Given the description of an element on the screen output the (x, y) to click on. 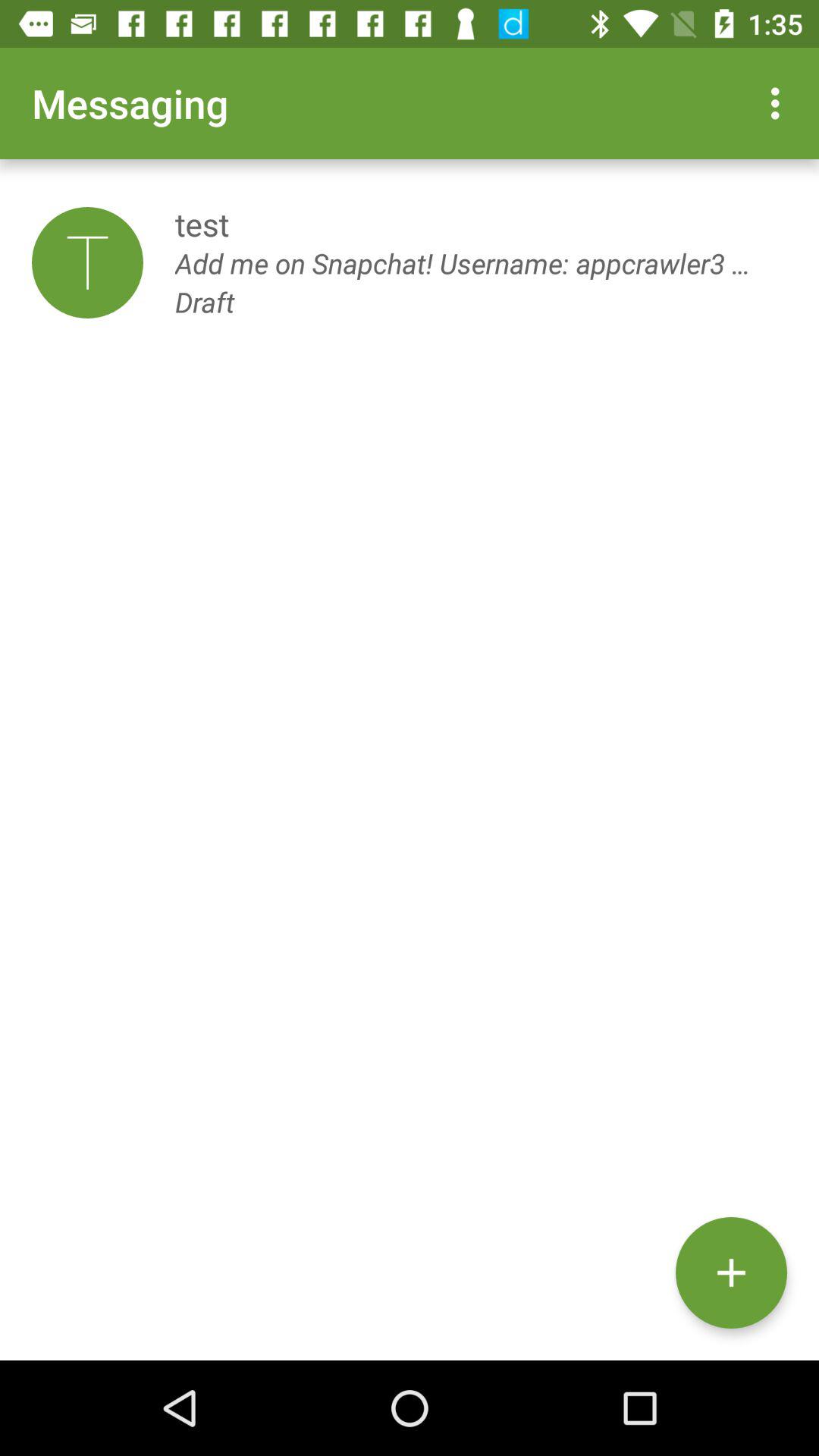
click icon above test item (779, 103)
